Given the description of an element on the screen output the (x, y) to click on. 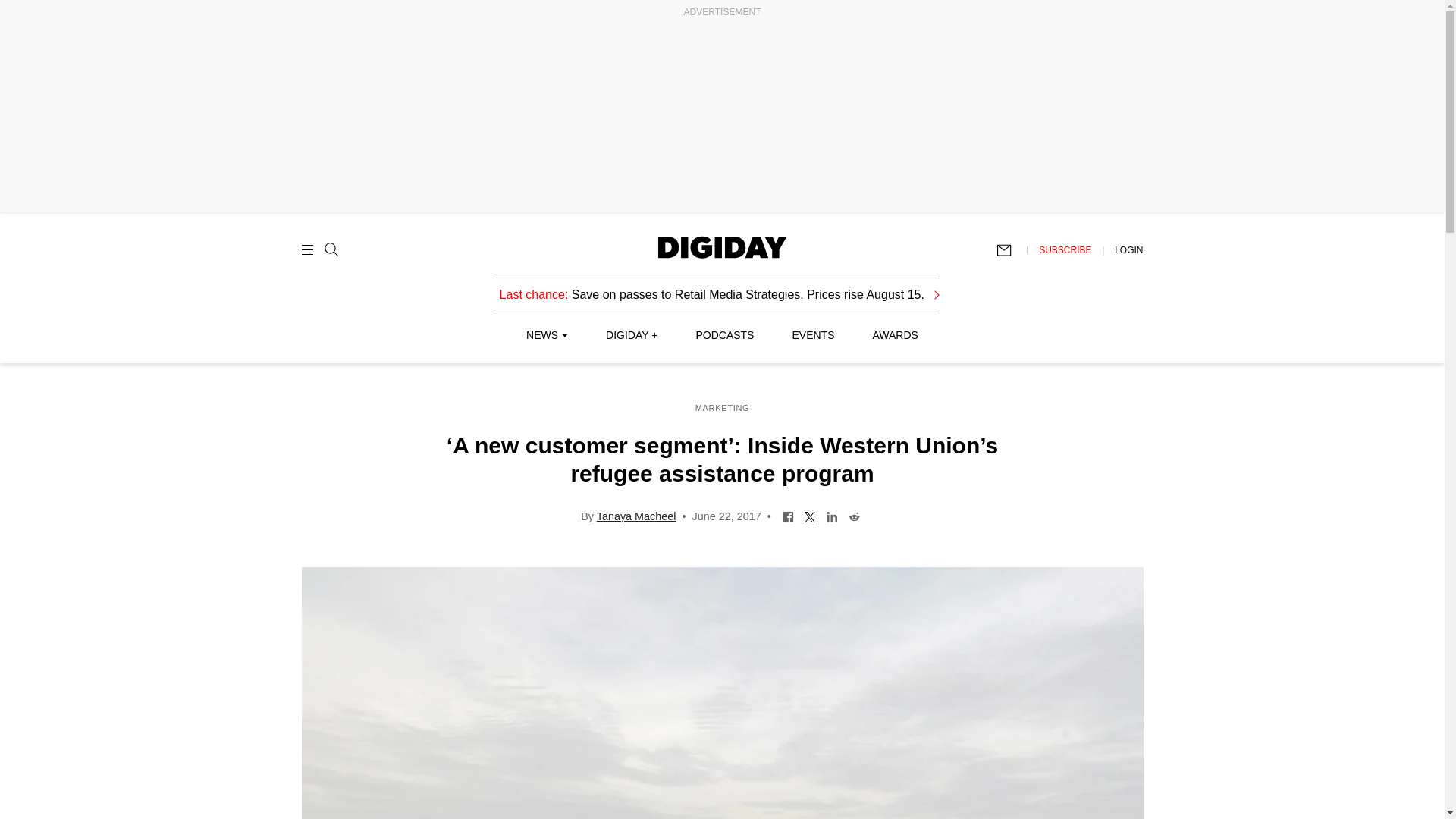
Share on Reddit (853, 515)
Share on LinkedIn (831, 515)
Share on Facebook (787, 515)
LOGIN (1128, 249)
NEWS (546, 335)
Share on Twitter (809, 515)
Subscribe (1010, 250)
AWARDS (894, 335)
EVENTS (813, 335)
SUBSCRIBE (1064, 249)
